Given the description of an element on the screen output the (x, y) to click on. 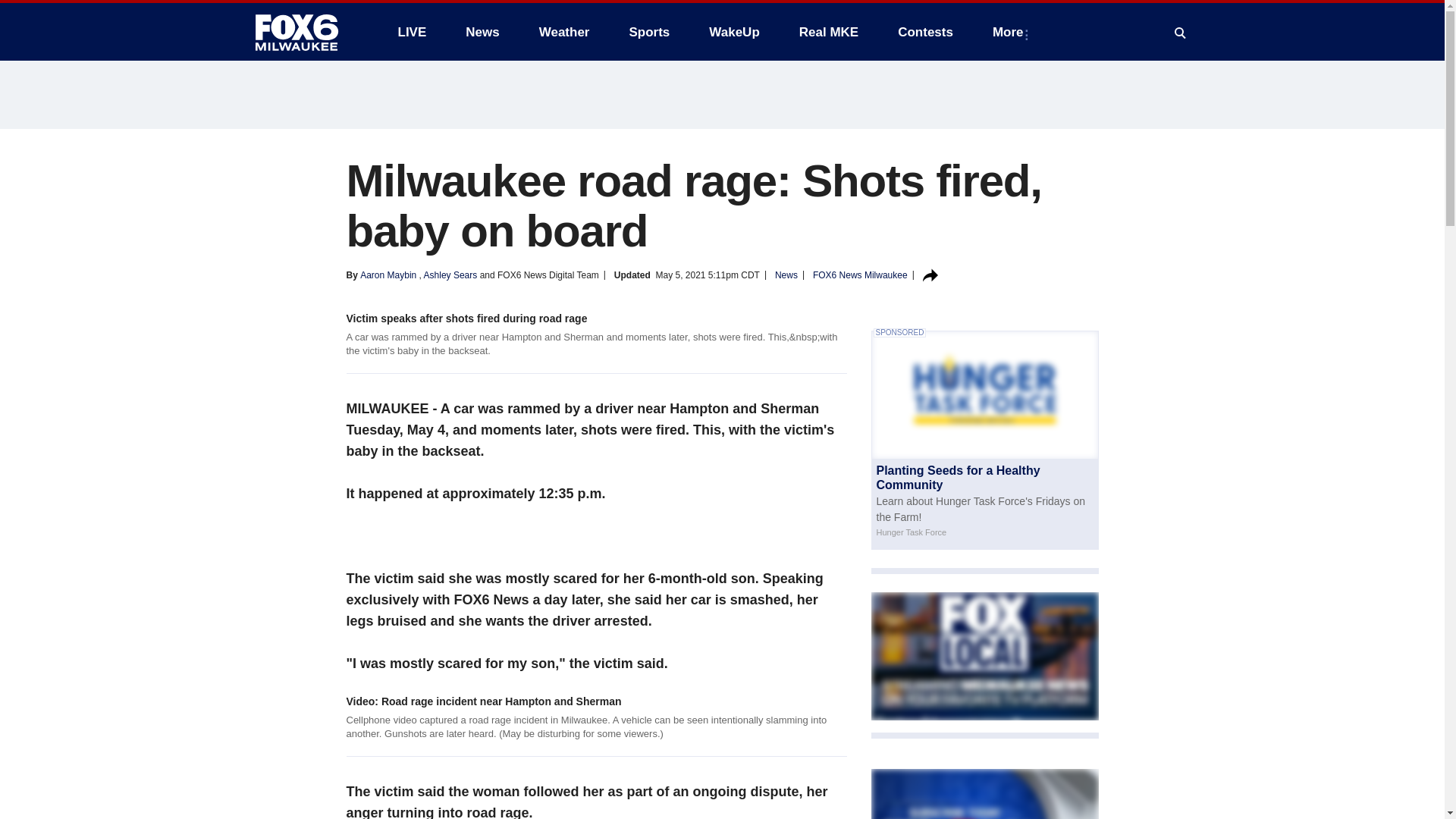
Contests (925, 32)
LIVE (411, 32)
Real MKE (828, 32)
WakeUp (734, 32)
News (481, 32)
Sports (648, 32)
More (1010, 32)
Weather (564, 32)
